Given the description of an element on the screen output the (x, y) to click on. 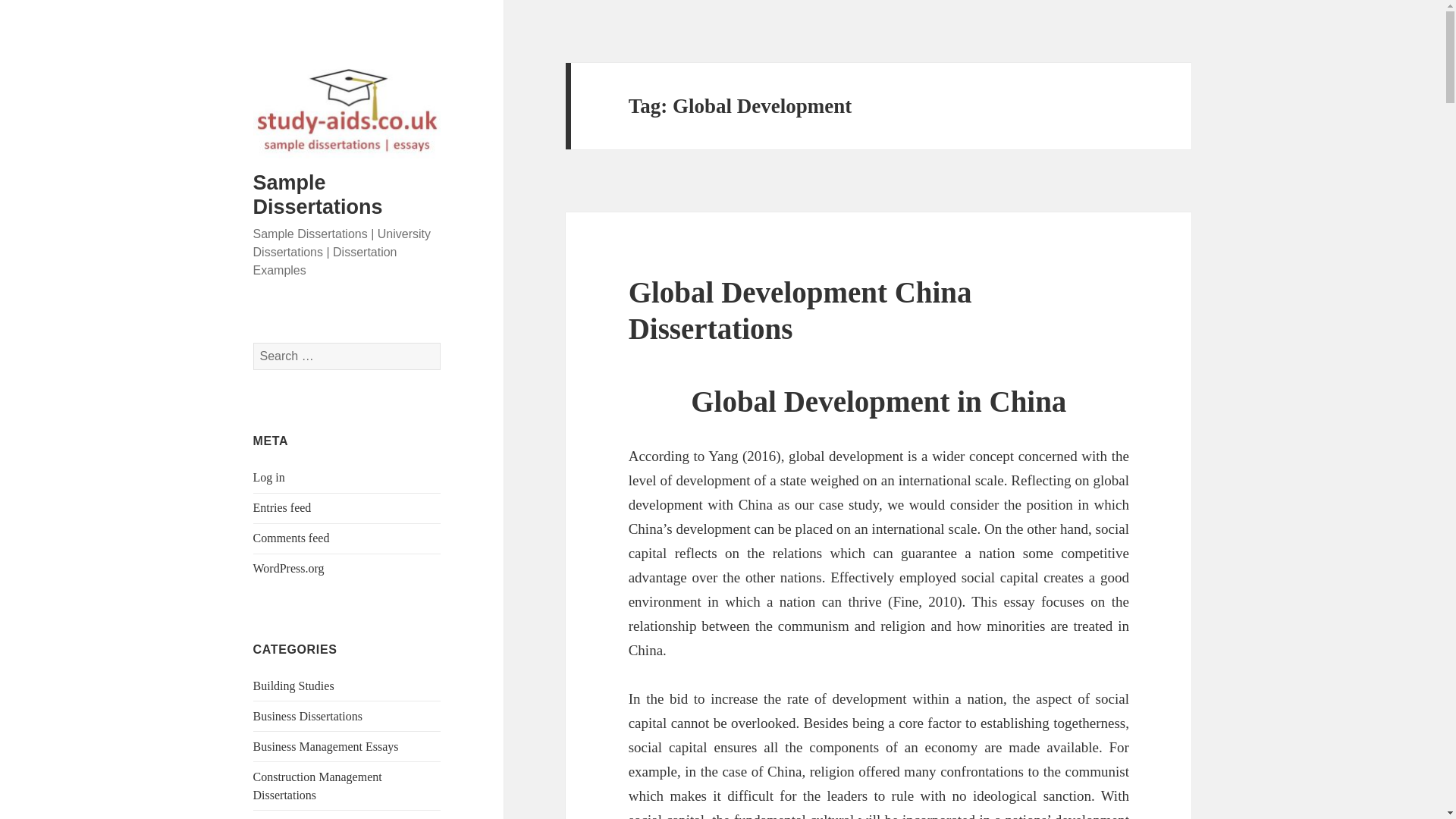
WordPress.org (288, 567)
Business Management Essays (325, 746)
Building Studies (293, 685)
Business Dissertations (307, 716)
Sample Dissertations (317, 194)
Comments feed (291, 537)
Log in (269, 477)
Global Development China Dissertations (800, 310)
Entries feed (282, 507)
Construction Management Dissertations (317, 785)
